Given the description of an element on the screen output the (x, y) to click on. 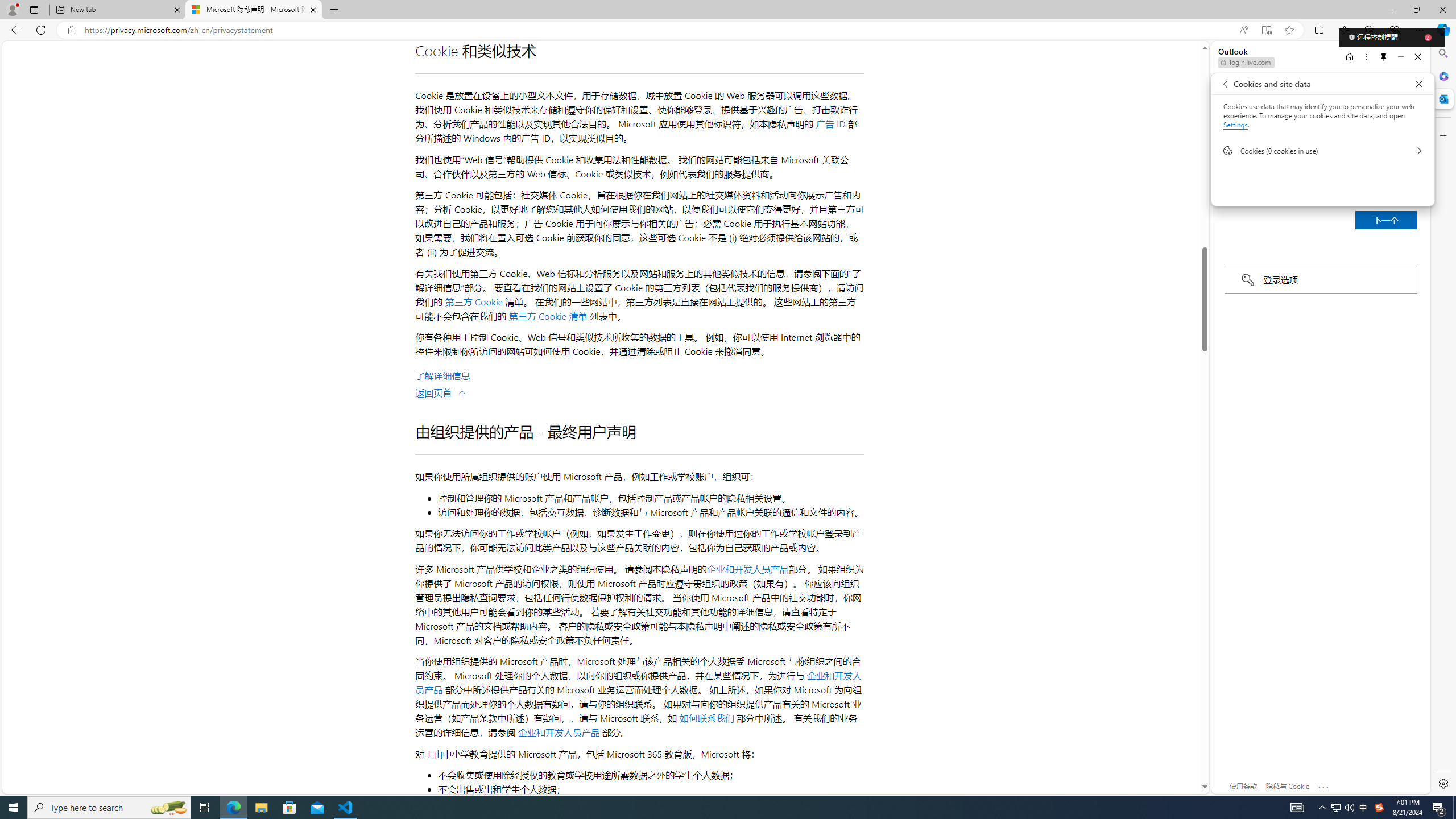
Running applications (707, 807)
